Given the description of an element on the screen output the (x, y) to click on. 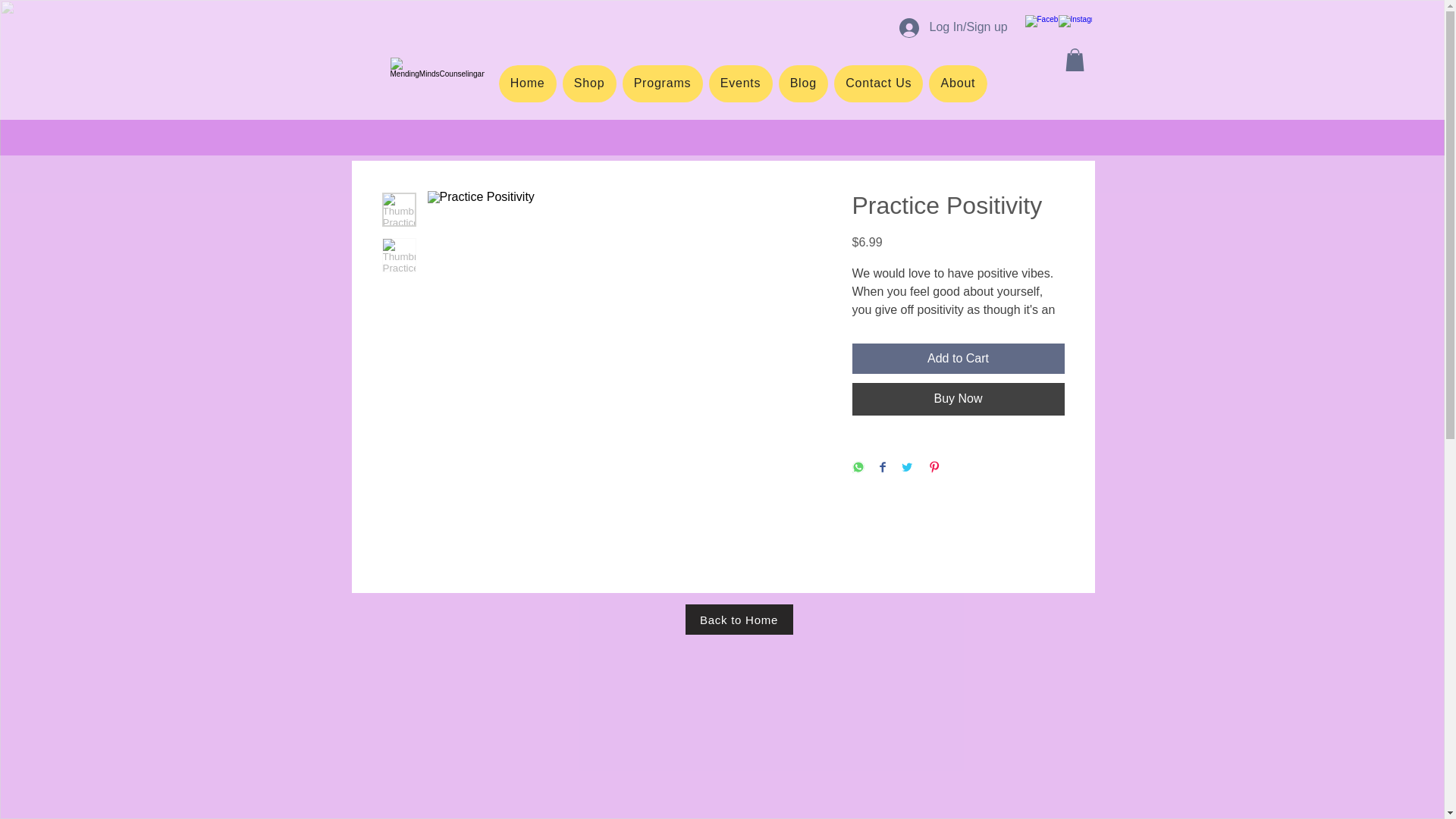
Add to Cart (957, 358)
Home (527, 83)
Programs (661, 83)
Events (741, 83)
Back to Home (743, 83)
Buy Now (739, 619)
Contact Us (957, 398)
Shop (878, 83)
About (588, 83)
